Given the description of an element on the screen output the (x, y) to click on. 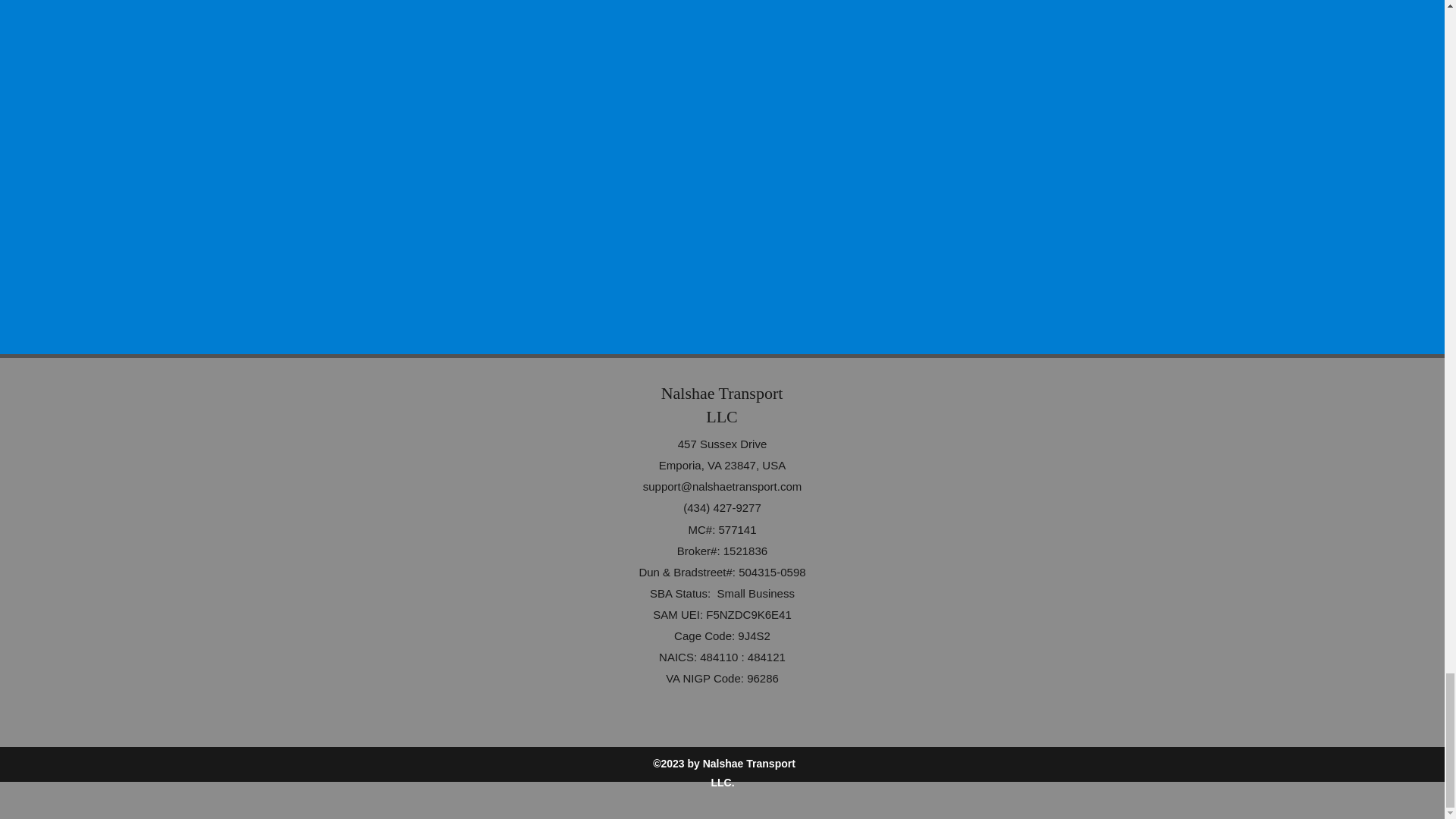
Nalshae Transport LLC (722, 404)
